Given the description of an element on the screen output the (x, y) to click on. 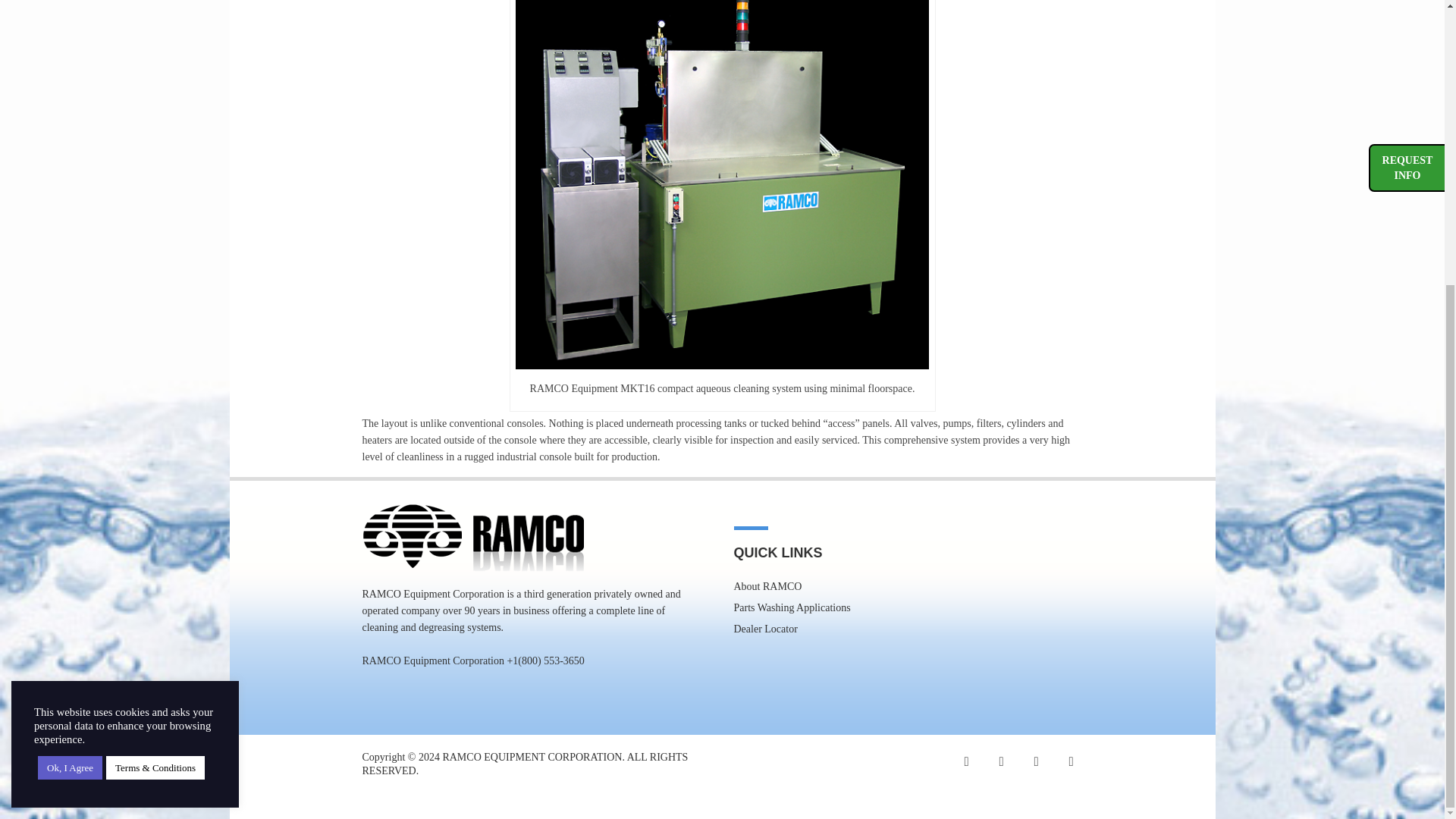
Ok, I Agree (69, 337)
Parts Washing Applications (791, 607)
Dealer Locator (765, 628)
About RAMCO (767, 586)
